Given the description of an element on the screen output the (x, y) to click on. 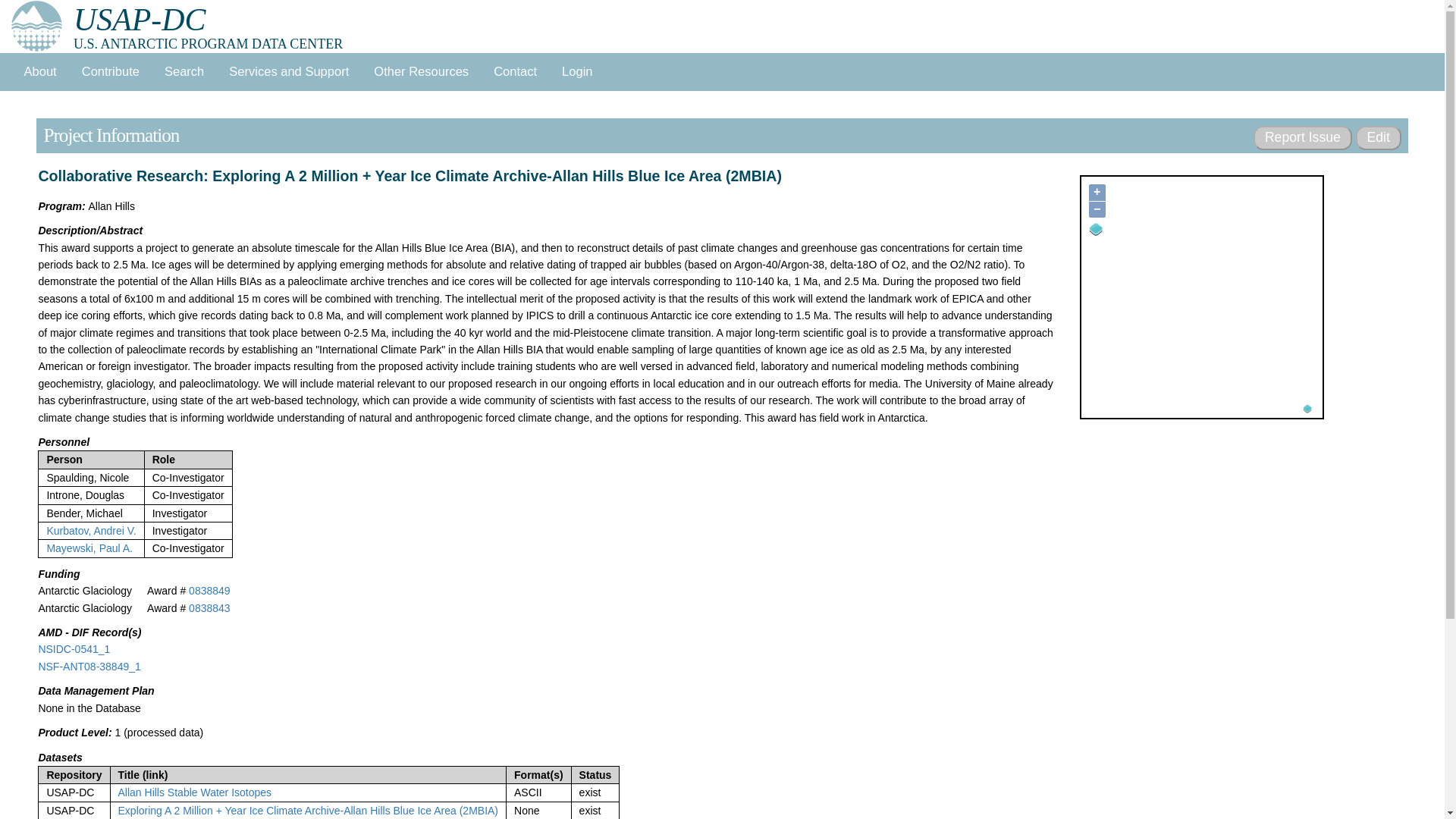
Login (577, 71)
U.S. ANTARCTIC PROGRAM DATA CENTER (139, 19)
Contact (515, 71)
Contribute (109, 71)
USAP-DC (139, 19)
Zoom out (1097, 209)
Services and Support (288, 71)
Zoom in (1097, 192)
Report Issue (1302, 137)
About (39, 71)
